Given the description of an element on the screen output the (x, y) to click on. 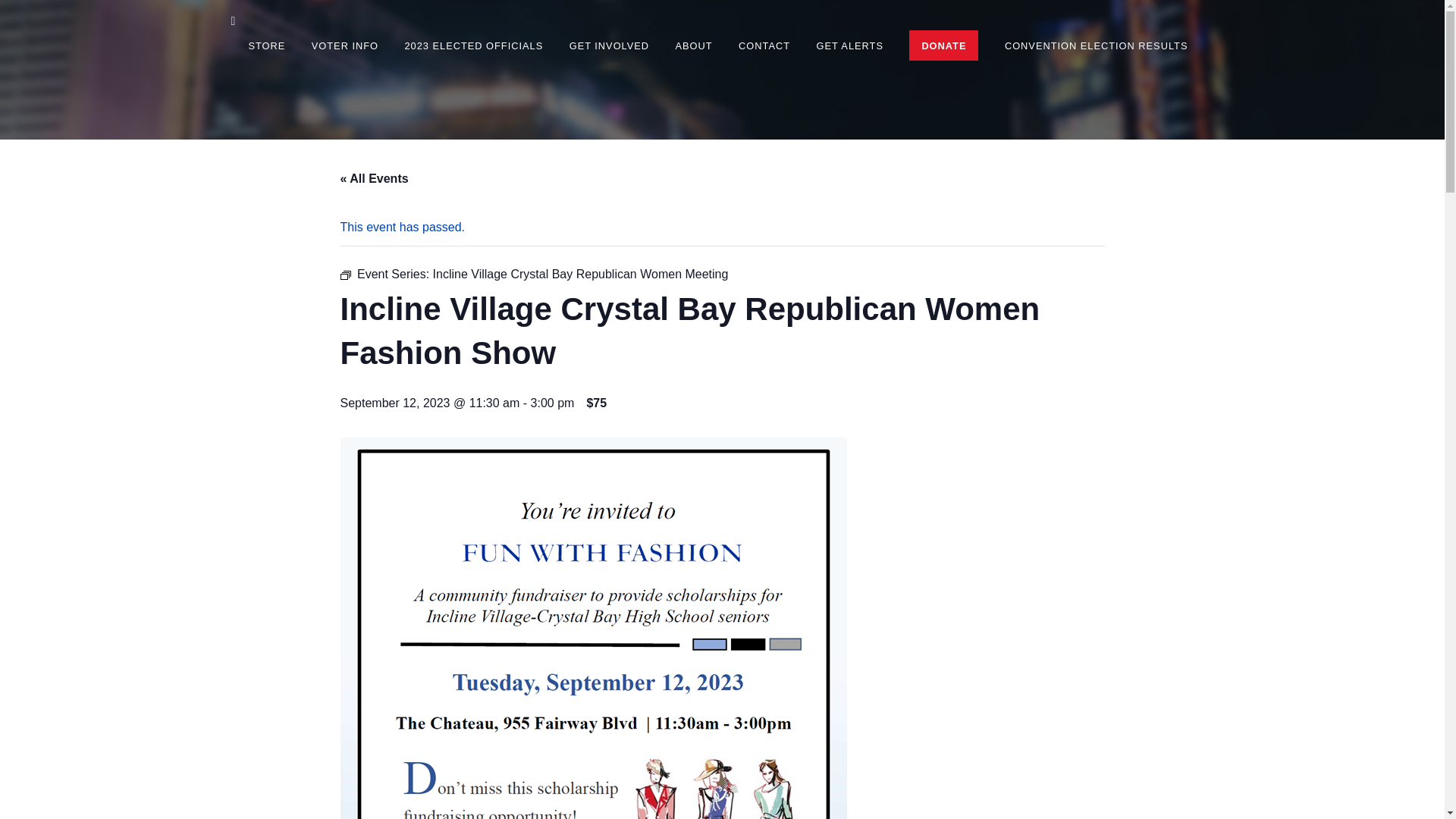
VOTER INFO (344, 45)
CONTACT (764, 45)
DONATE (943, 45)
2023 ELECTED OFFICIALS (473, 45)
ABOUT (694, 45)
Event Series (344, 275)
CONVENTION ELECTION RESULTS (1096, 45)
GET INVOLVED (609, 45)
GET ALERTS (848, 45)
STORE (266, 45)
